Given the description of an element on the screen output the (x, y) to click on. 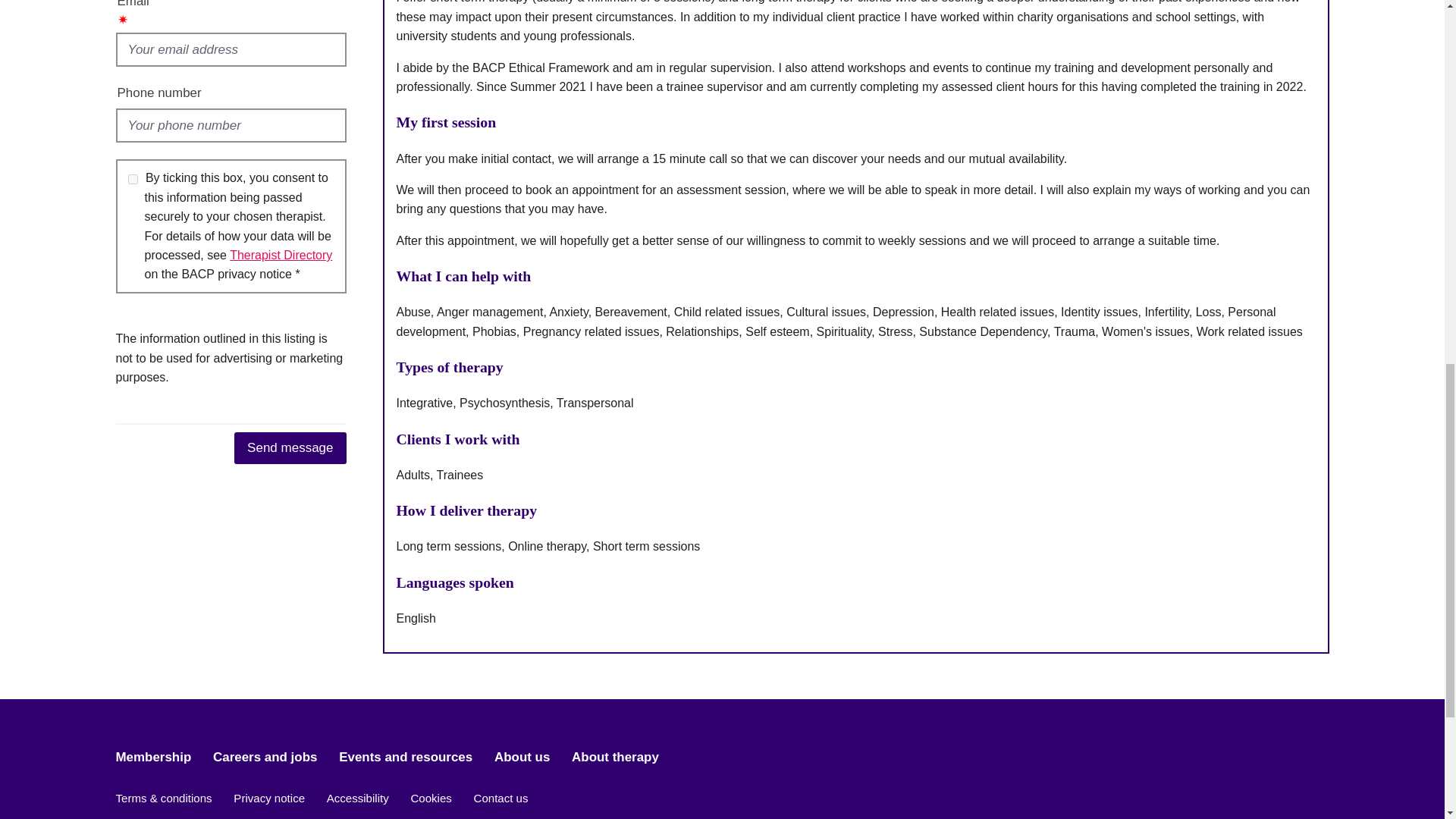
Privacy (280, 254)
true (132, 179)
